Given the description of an element on the screen output the (x, y) to click on. 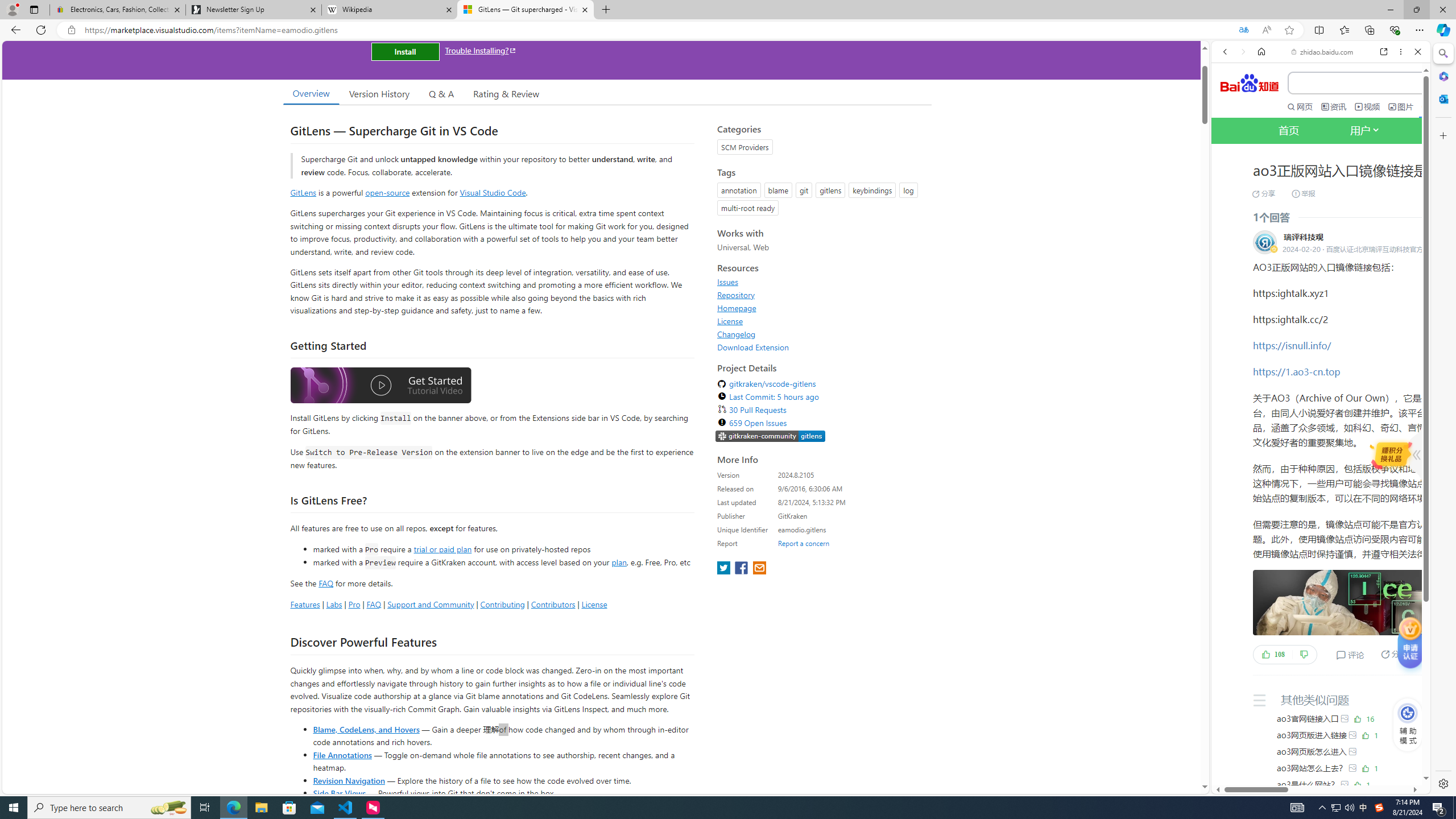
Search Filter, WEB (1230, 192)
Homepage (737, 307)
Restore (1416, 9)
Side bar (1443, 418)
share extension on facebook (742, 568)
Microsoft 365 (1442, 76)
Outlook (1442, 98)
View site information (70, 29)
New Tab (606, 9)
